Given the description of an element on the screen output the (x, y) to click on. 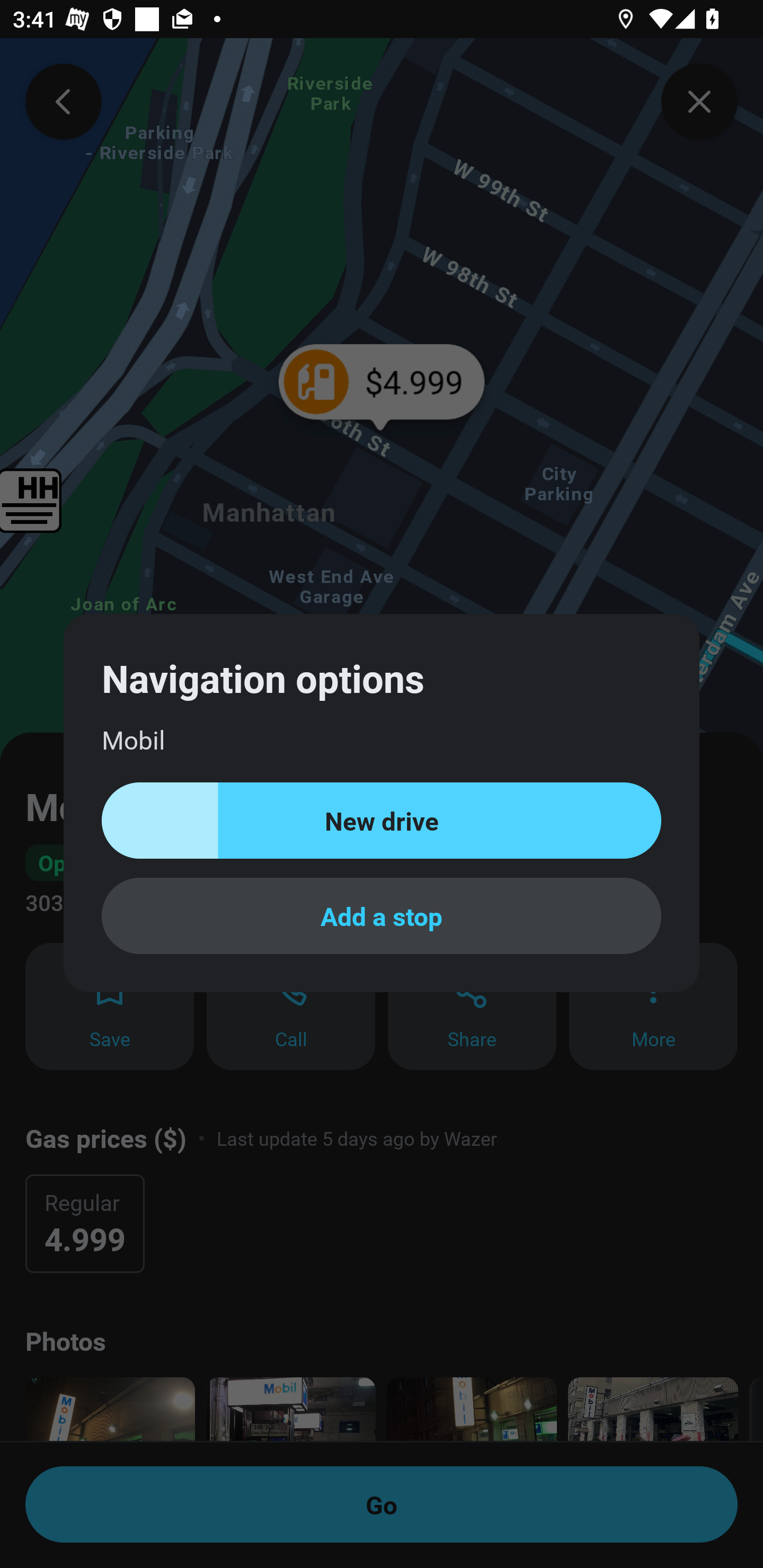
0.2047 New drive (381, 820)
Add a stop (381, 915)
